Given the description of an element on the screen output the (x, y) to click on. 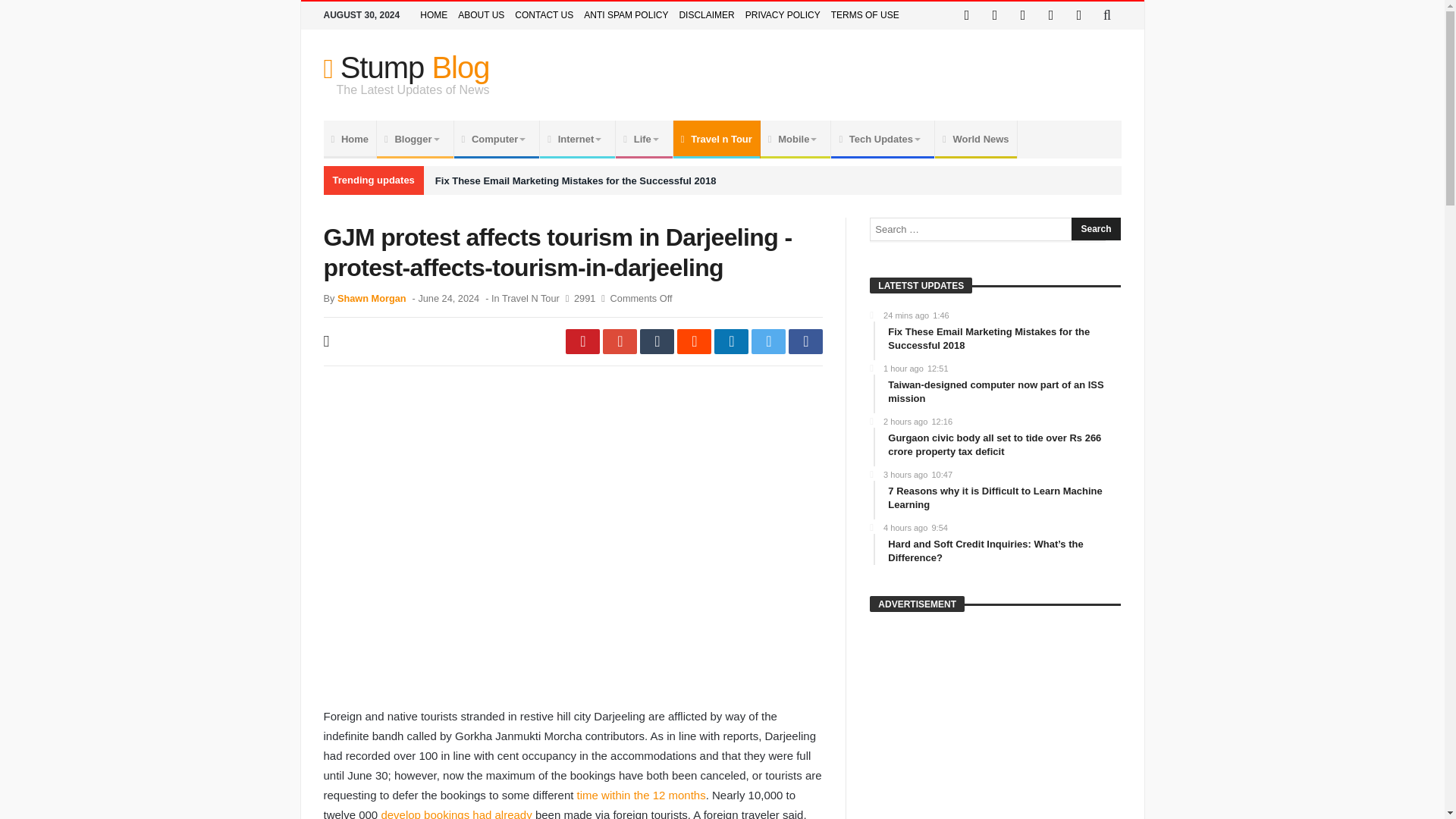
Search (1095, 228)
Rss (1078, 15)
Facebook (965, 15)
Pinterest (1050, 15)
Twitter (995, 15)
Search (1095, 228)
